Given the description of an element on the screen output the (x, y) to click on. 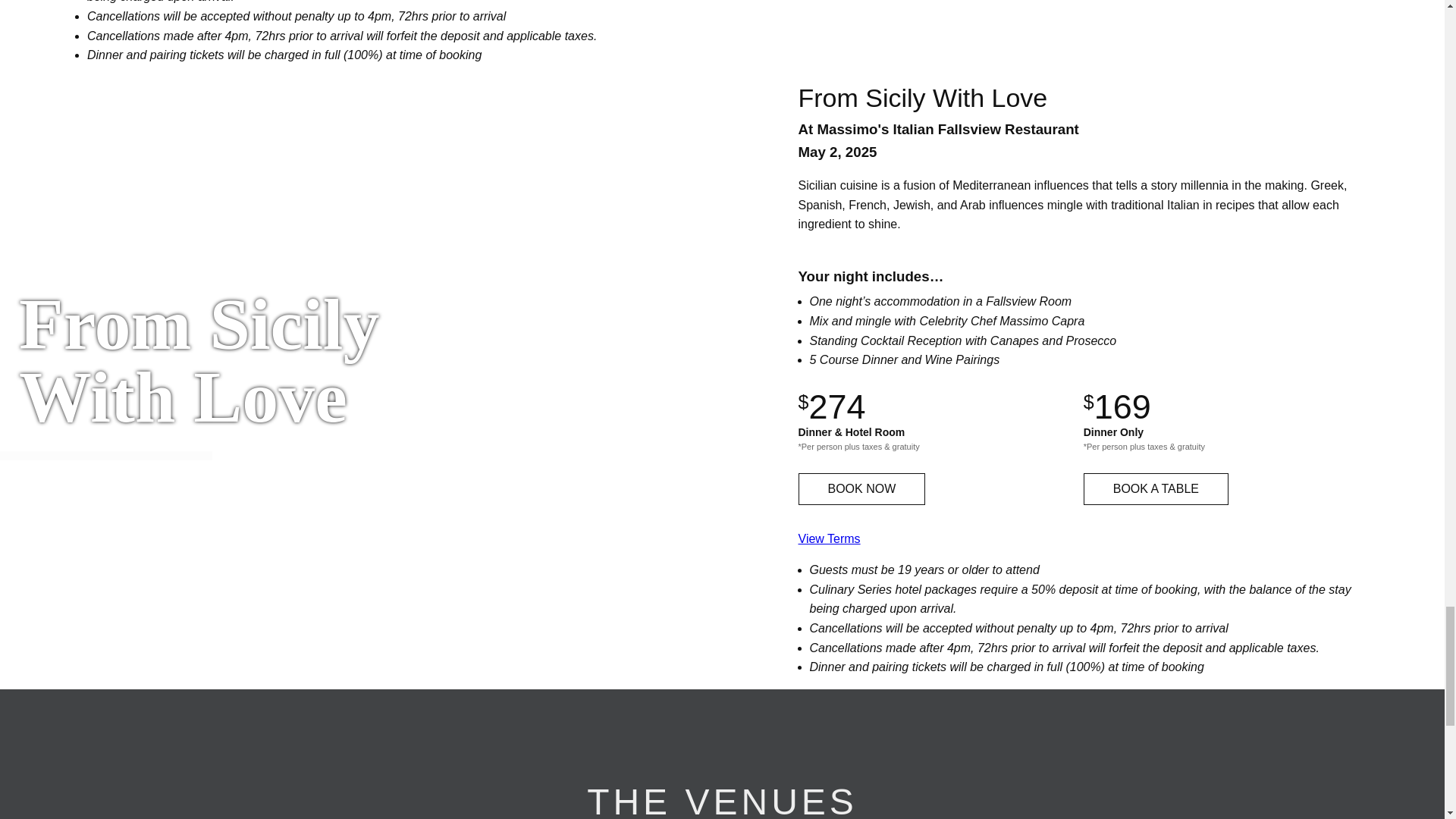
BOOK A TABLE (1155, 489)
View Terms (828, 538)
BOOK NOW (860, 489)
